Given the description of an element on the screen output the (x, y) to click on. 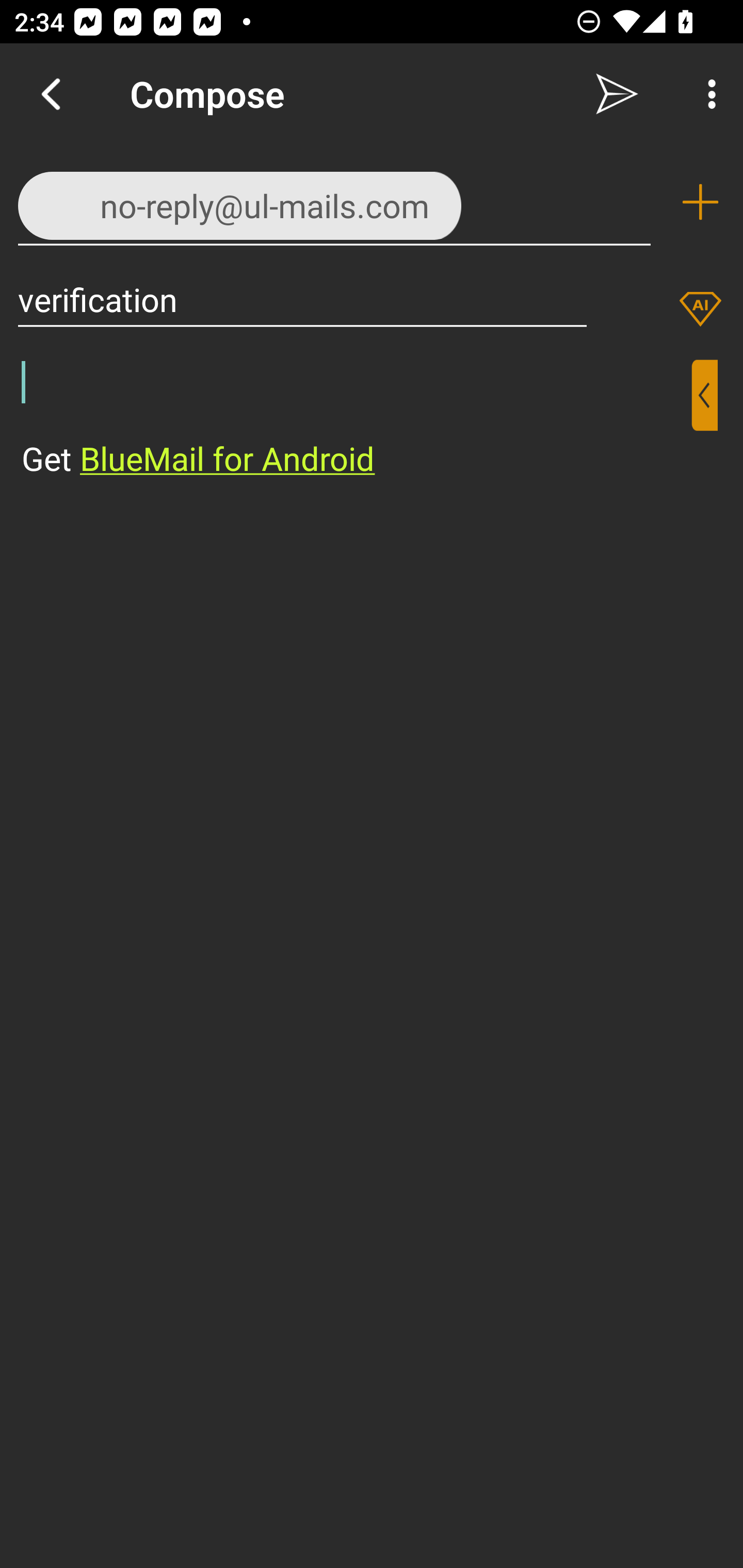
Navigate up (50, 93)
Send (616, 93)
More Options (706, 93)
<no-reply@ul-mails.com>,  (334, 201)
Add recipient (To) (699, 201)
verification (302, 299)


⁣Get BlueMail for Android ​ (355, 419)
